Given the description of an element on the screen output the (x, y) to click on. 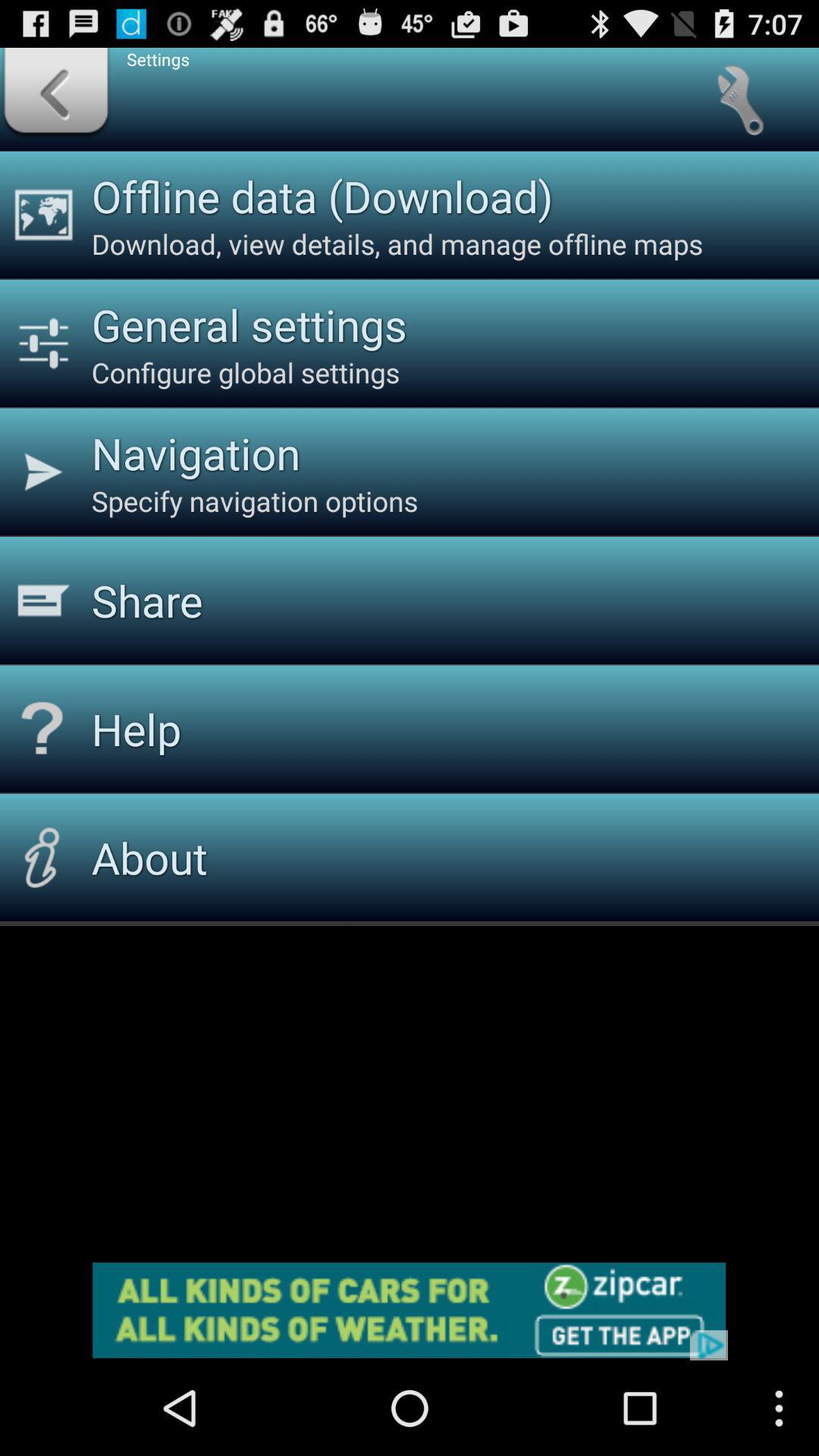
go to advertisement page (409, 1310)
